Given the description of an element on the screen output the (x, y) to click on. 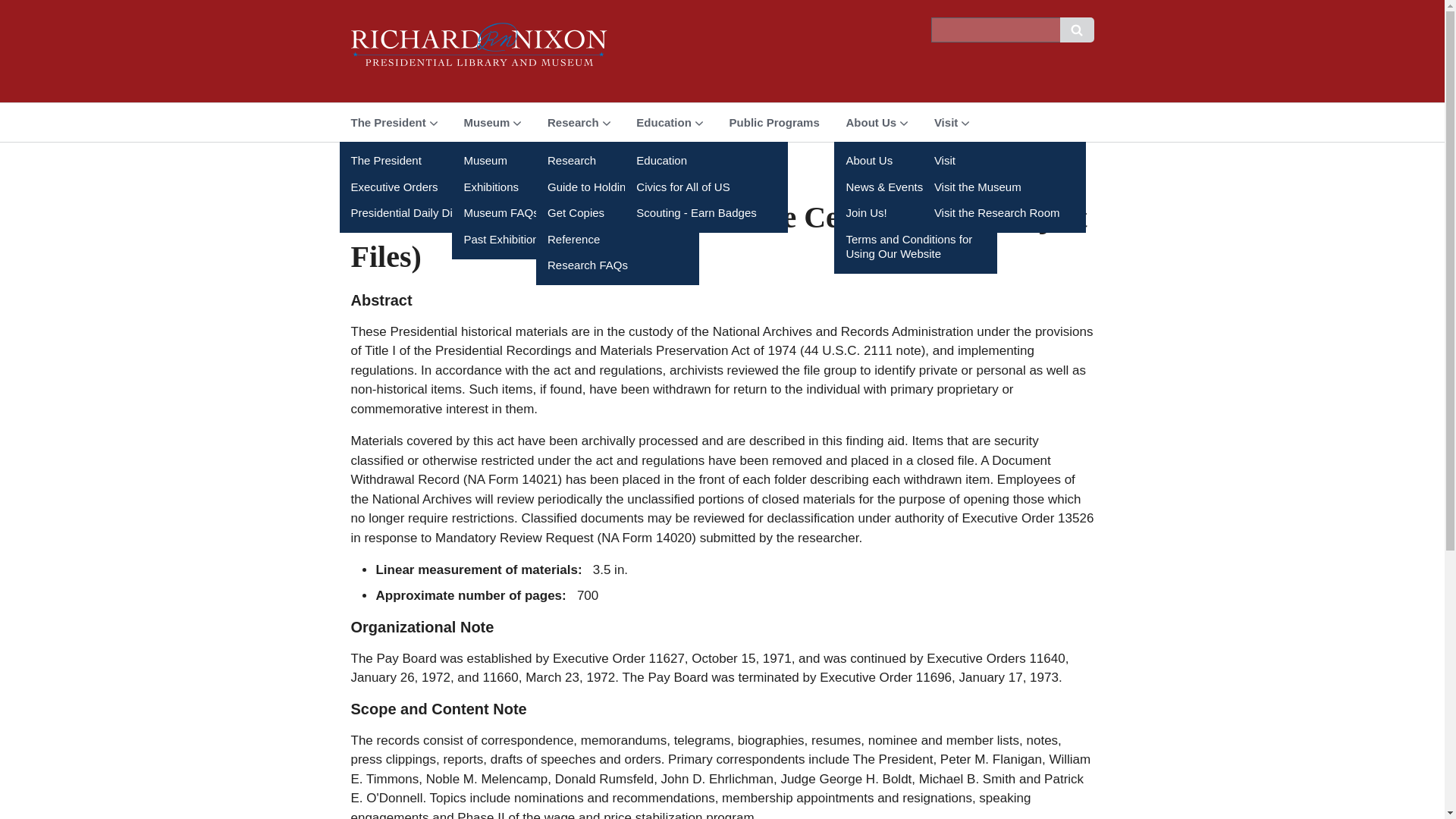
Executive Orders (420, 186)
Presidential Daily Diary (420, 212)
Enter the terms you wish to search for. (995, 29)
The President (420, 160)
The President (393, 122)
Home (478, 50)
